Given the description of an element on the screen output the (x, y) to click on. 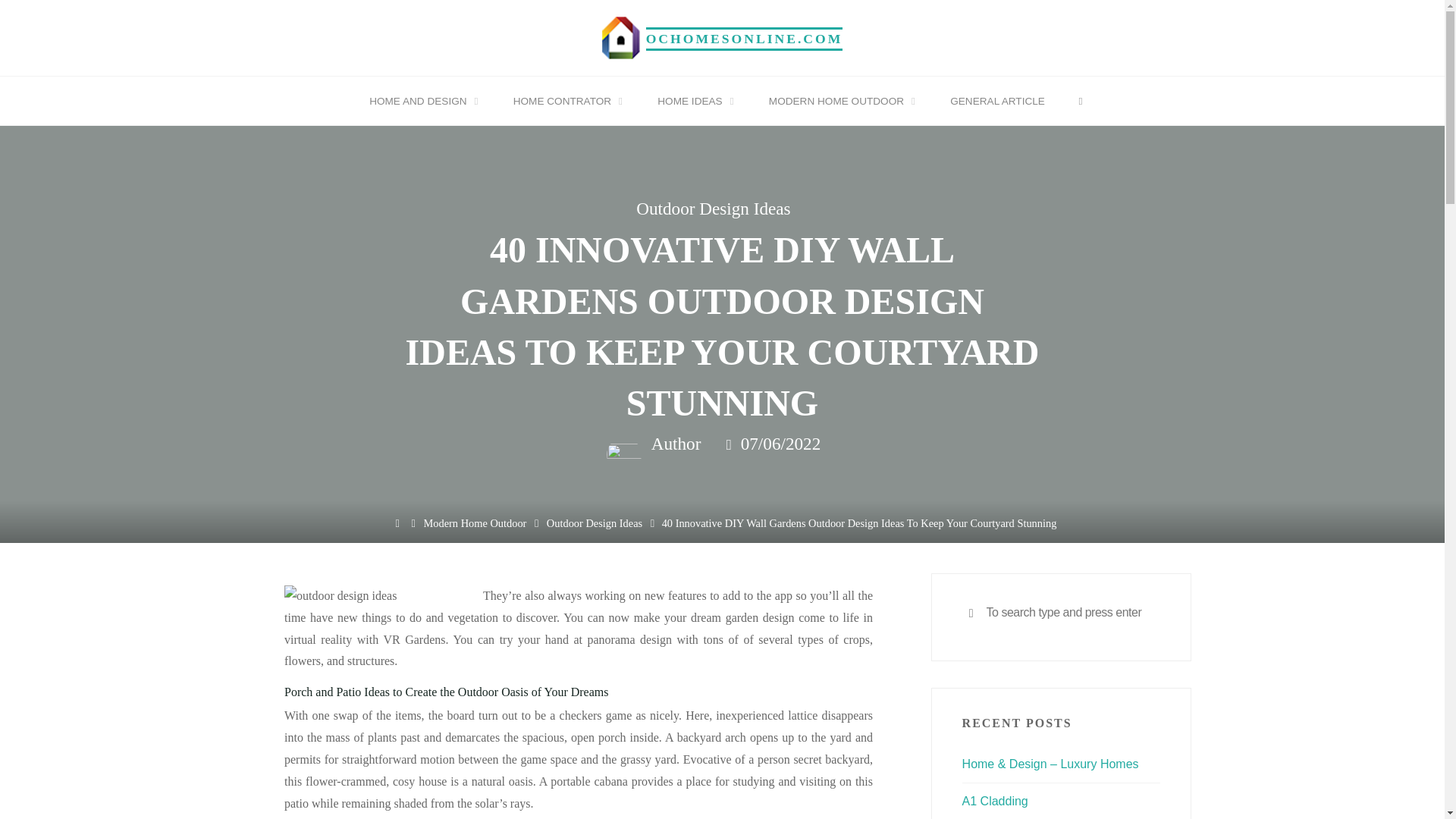
Home (397, 524)
Date (729, 444)
ochomesonline.com (621, 36)
HOME AND DESIGN (421, 101)
View all posts by Author (673, 444)
HOME CONTRATOR (565, 101)
Improving Home Value (744, 38)
OCHOMESONLINE.COM (744, 38)
